Given the description of an element on the screen output the (x, y) to click on. 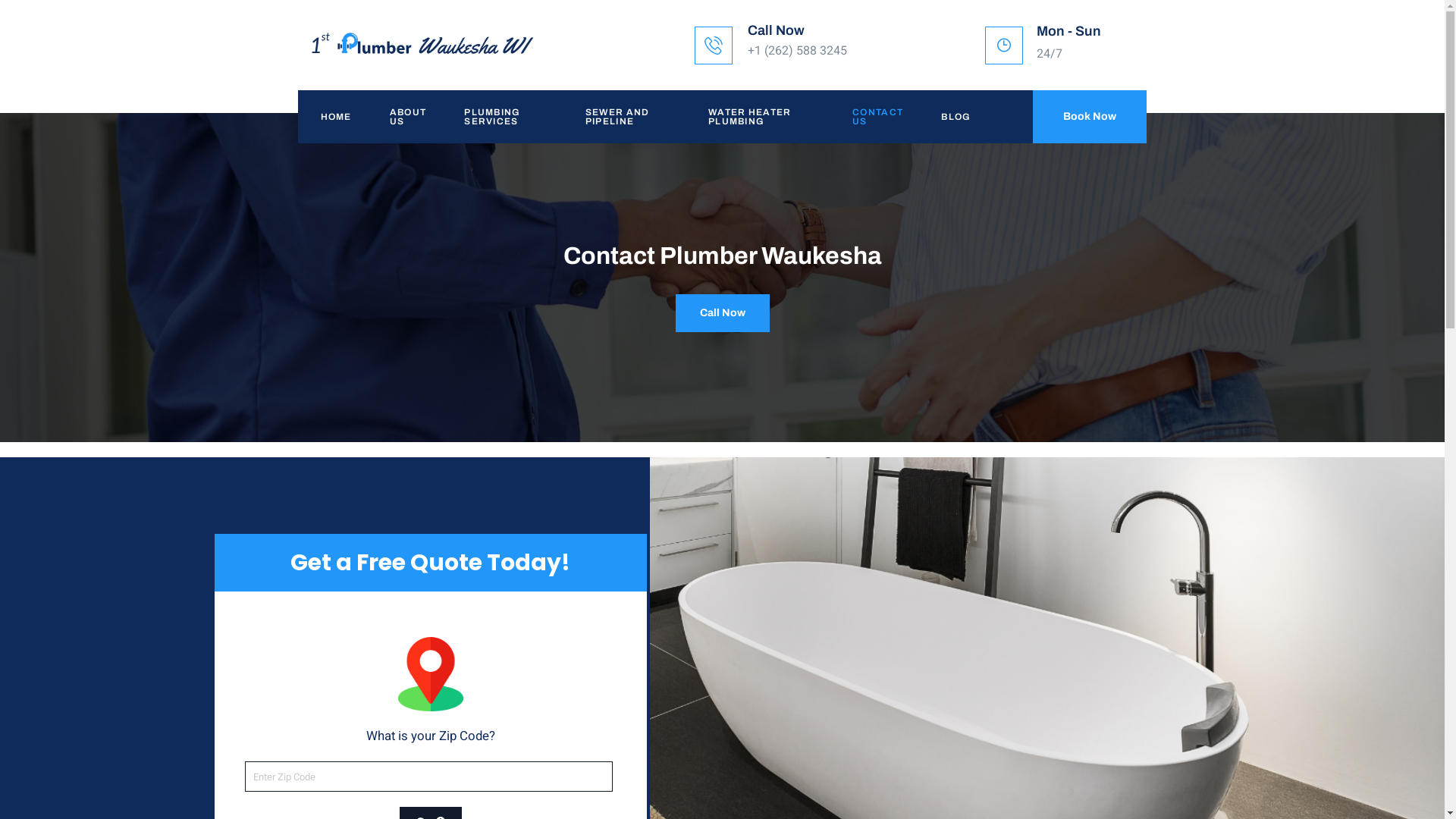
SEWER AND PIPELINE Element type: text (623, 116)
PLUMBING SERVICES Element type: text (501, 116)
Call Now Element type: text (775, 29)
ABOUT US Element type: text (404, 116)
WATER HEATER PLUMBING Element type: text (757, 116)
Book Now Element type: text (1089, 116)
Call Now Element type: text (721, 313)
HOME Element type: text (331, 116)
BLOG Element type: text (951, 116)
CONTACT US Element type: text (873, 116)
